Given the description of an element on the screen output the (x, y) to click on. 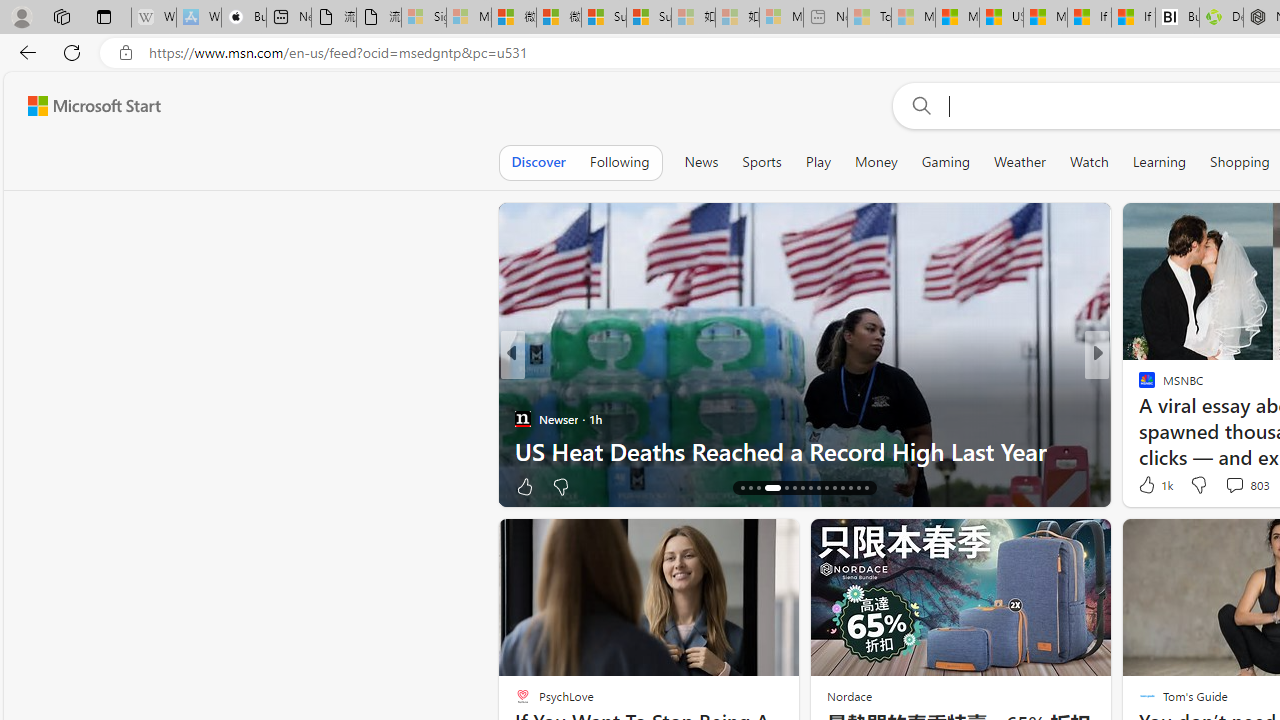
AutomationID: tab-30 (865, 487)
AutomationID: tab-27 (842, 487)
52 Like (1149, 486)
View comments 102 Comment (1228, 485)
AutomationID: tab-20 (786, 487)
Hide this story (738, 542)
Barron's (1138, 386)
AutomationID: tab-25 (825, 487)
View comments 2 Comment (1234, 486)
Top Stories - MSN - Sleeping (868, 17)
